Given the description of an element on the screen output the (x, y) to click on. 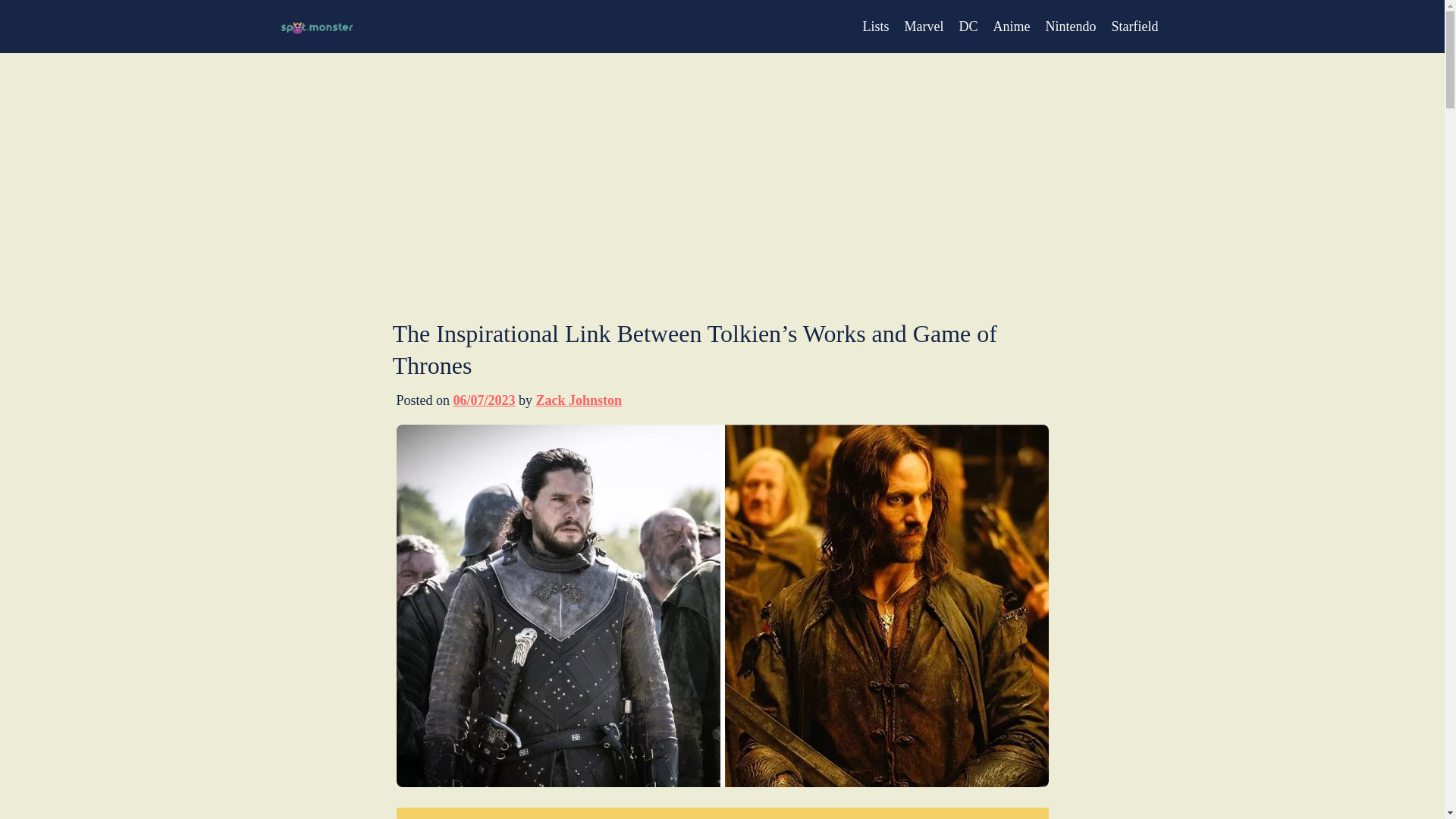
Nintendo (1070, 26)
Lists (876, 26)
Marvel (923, 26)
Starfield (1135, 26)
Zack Johnston (579, 400)
Anime (1011, 26)
